Given the description of an element on the screen output the (x, y) to click on. 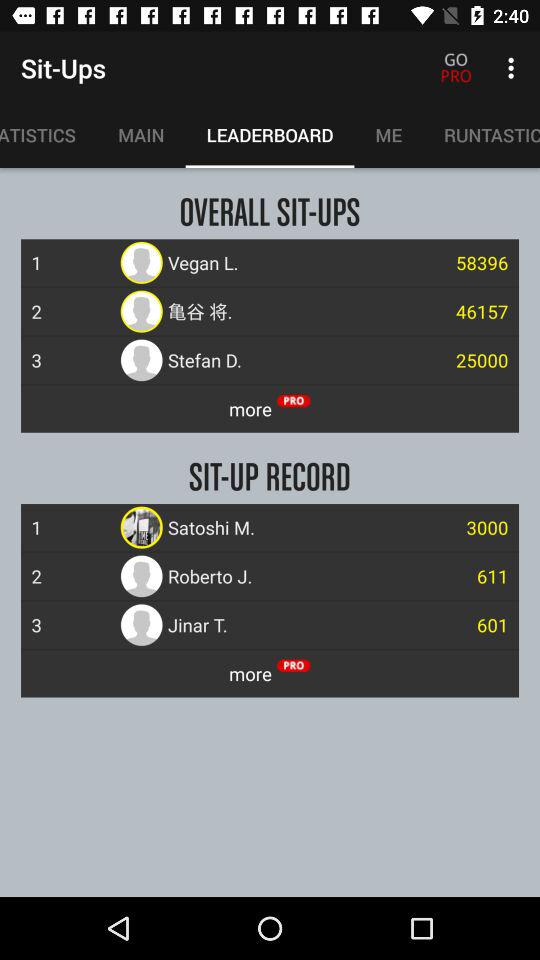
launch statistics item (48, 135)
